Given the description of an element on the screen output the (x, y) to click on. 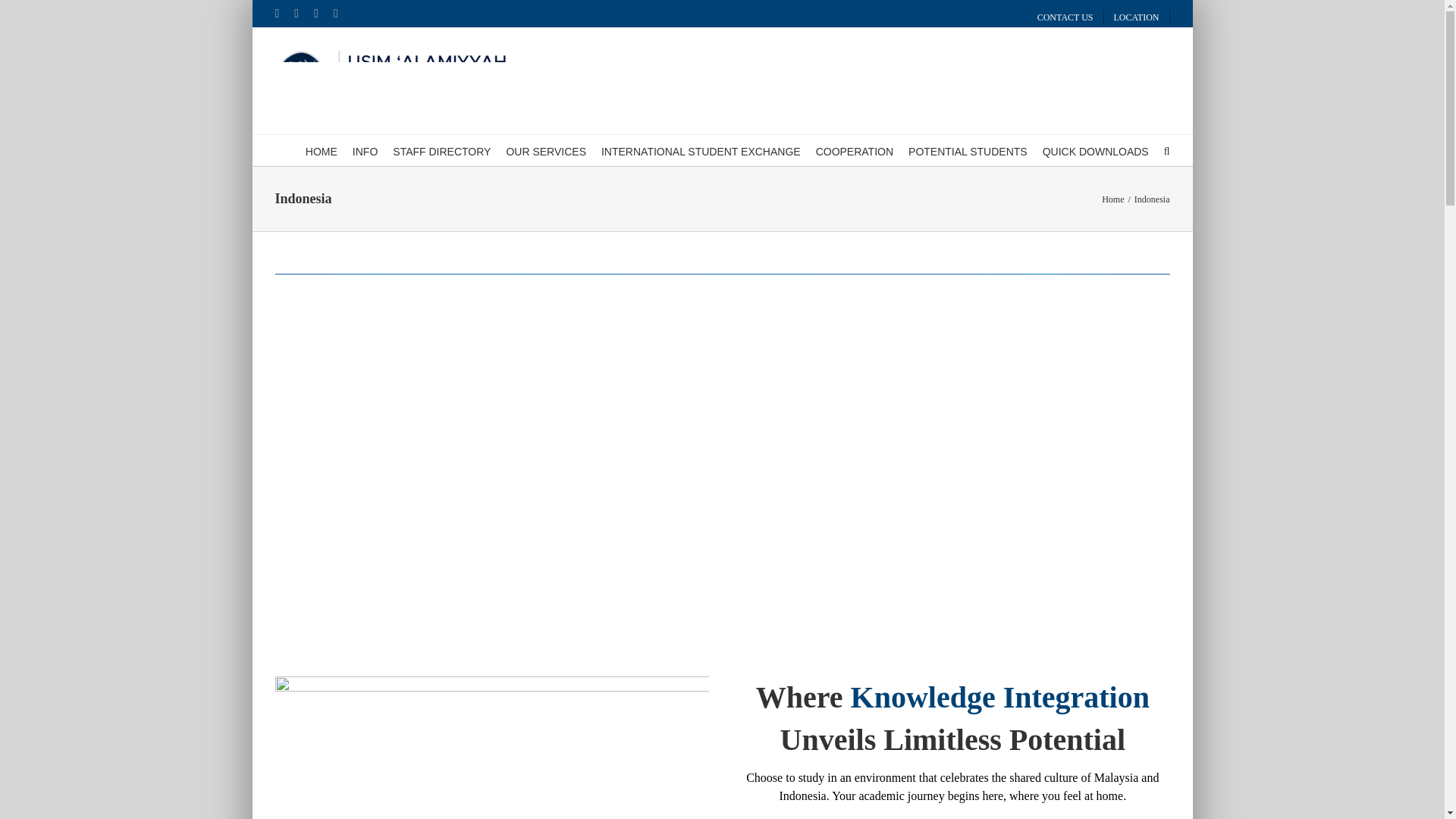
STAFF DIRECTORY (441, 150)
OUR SERVICES (545, 150)
LOCATION (1136, 17)
canselori-wide-cloud (491, 747)
CONTACT US (1065, 17)
HOME (321, 150)
